Given the description of an element on the screen output the (x, y) to click on. 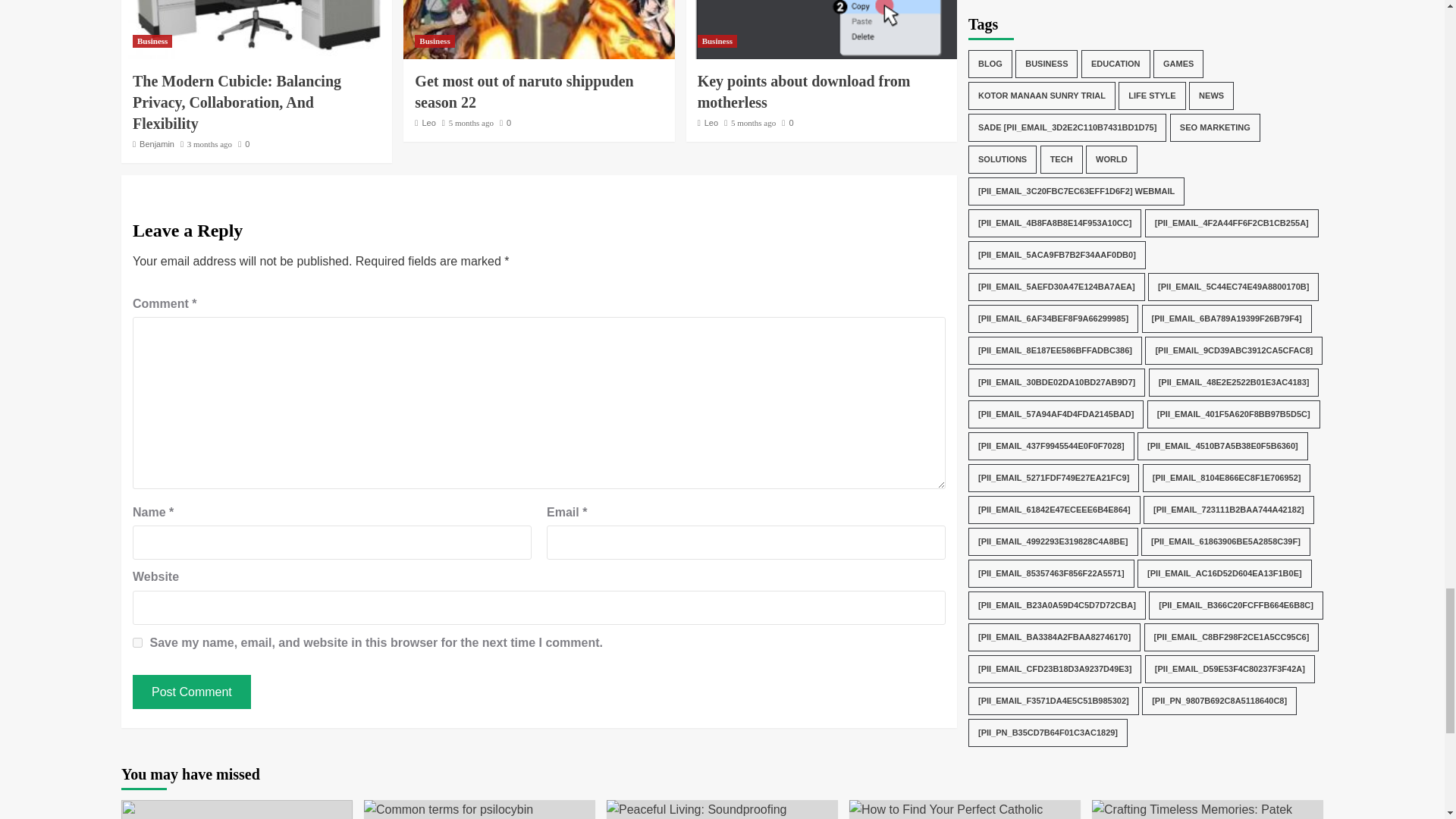
Benjamin (156, 143)
yes (137, 642)
3 months ago (209, 143)
Post Comment (191, 691)
Business (151, 41)
